Given the description of an element on the screen output the (x, y) to click on. 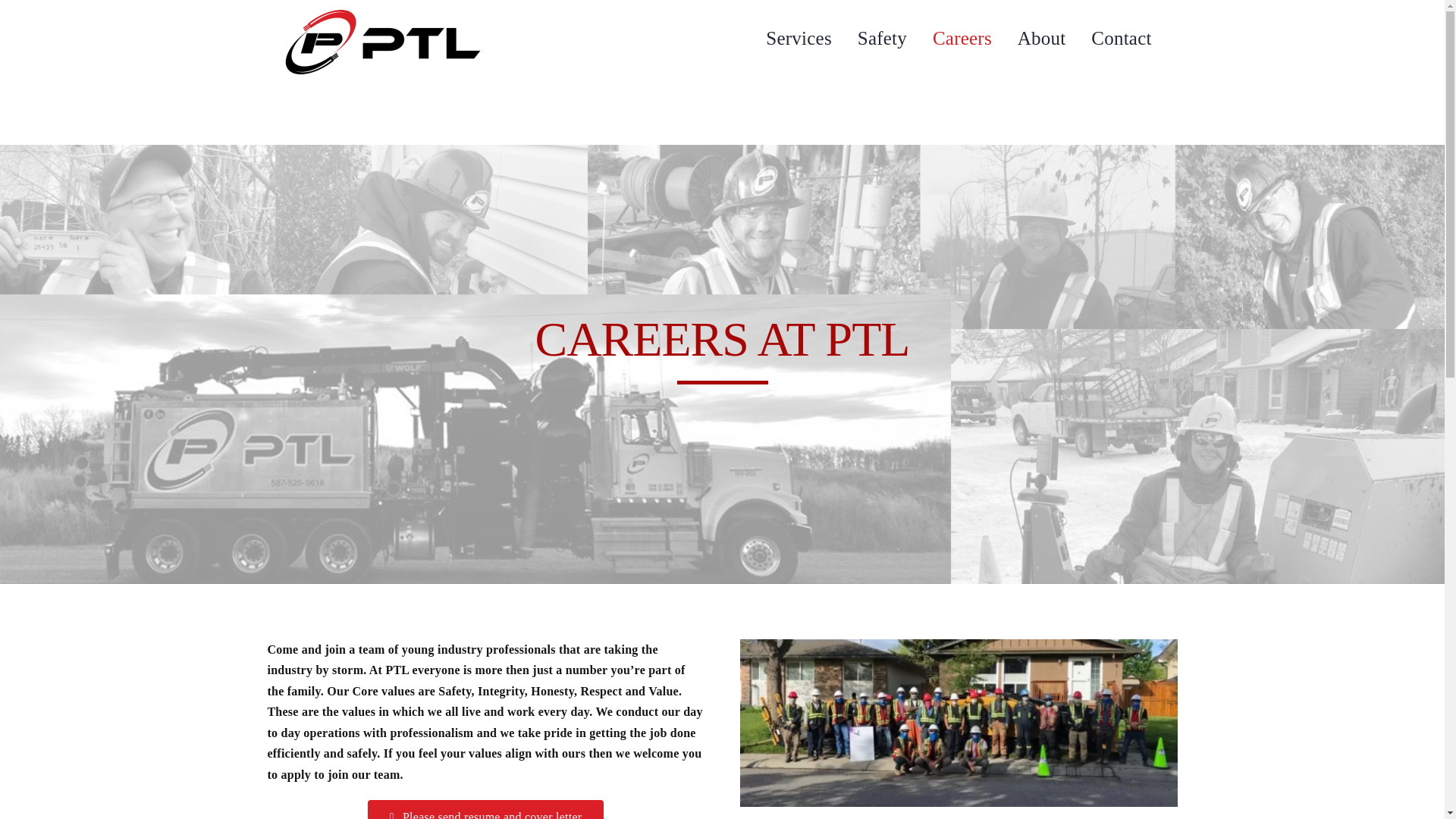
team (957, 722)
Contact (1120, 37)
Careers (962, 37)
About (1041, 37)
Safety (882, 37)
Services (798, 37)
Please send resume and cover letter (486, 809)
